Given the description of an element on the screen output the (x, y) to click on. 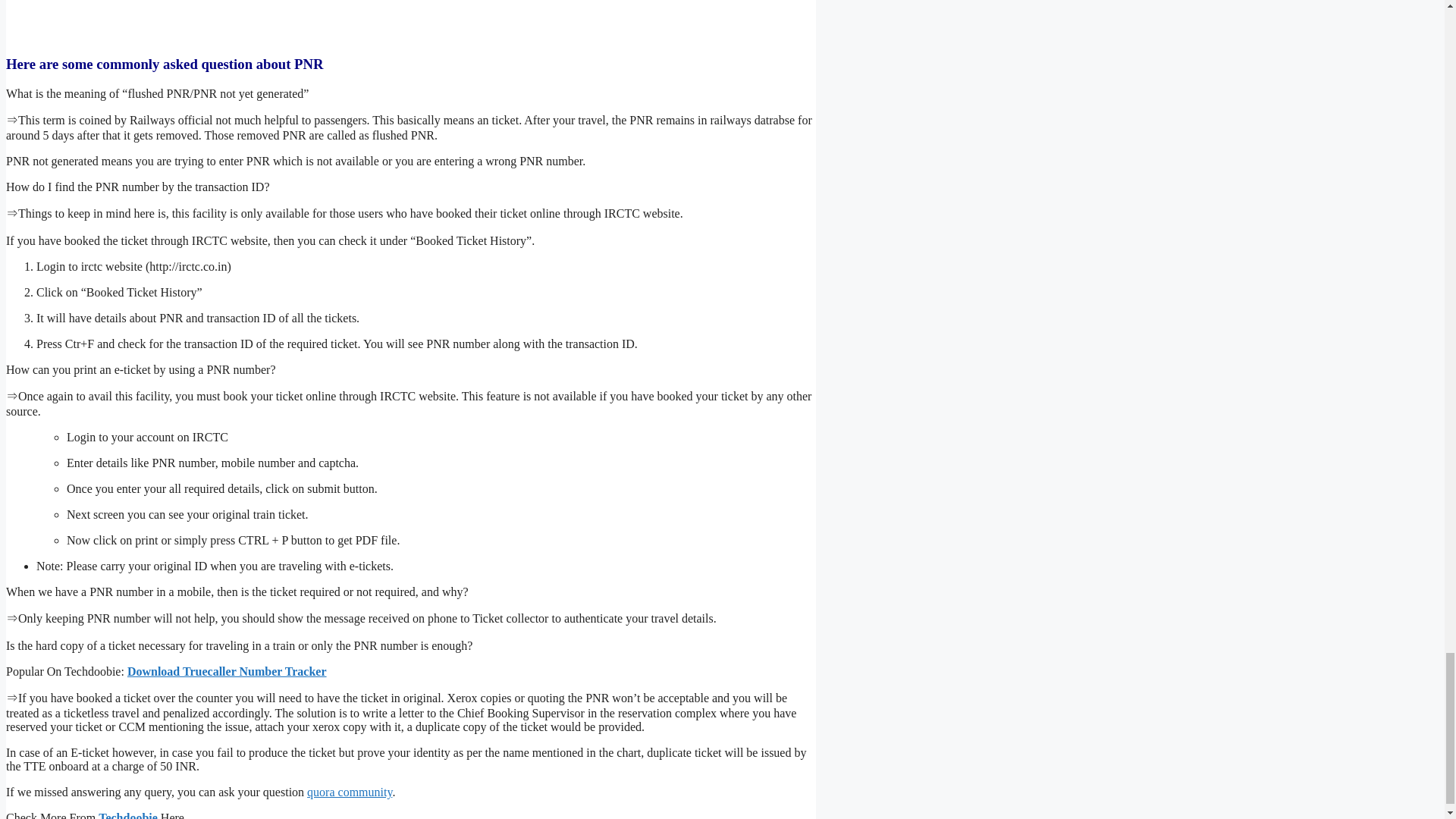
quora community (349, 791)
Download Truecaller Number Tracker (227, 671)
